Given the description of an element on the screen output the (x, y) to click on. 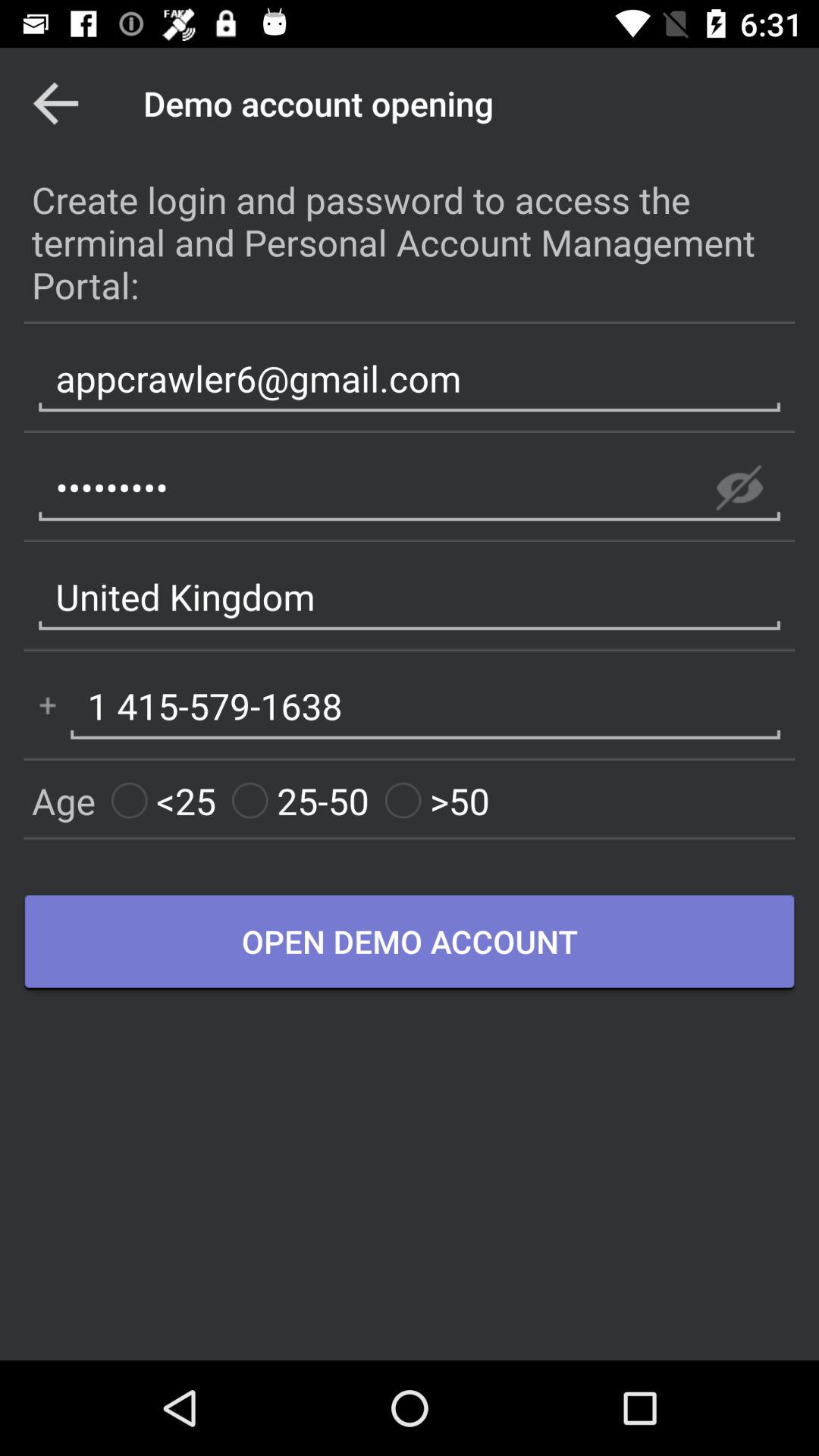
launch icon next to demo account opening app (55, 103)
